Given the description of an element on the screen output the (x, y) to click on. 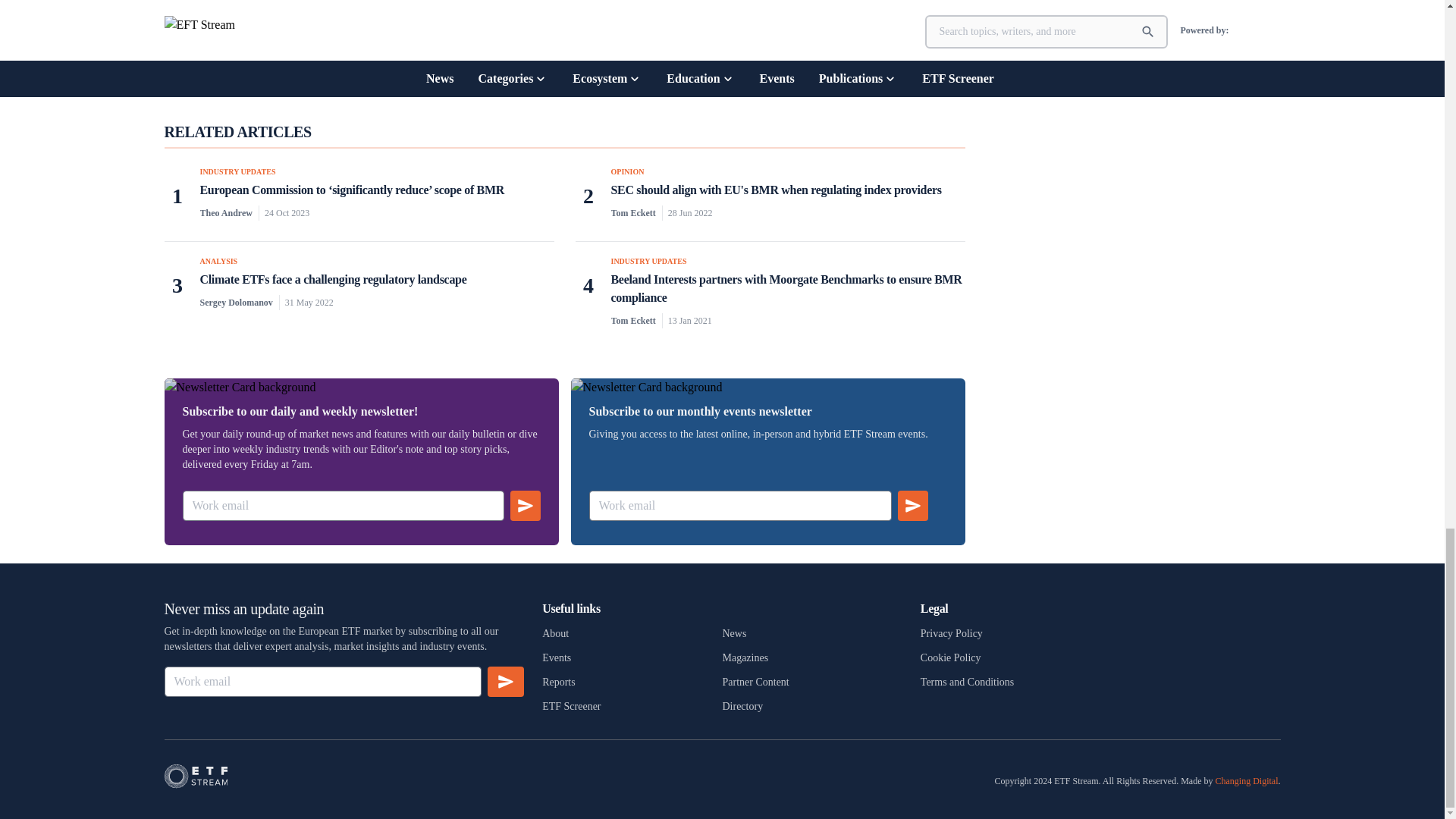
REGULATION (738, 57)
CUSTODIANS (633, 56)
BMR (586, 56)
EUROPE (687, 56)
